Given the description of an element on the screen output the (x, y) to click on. 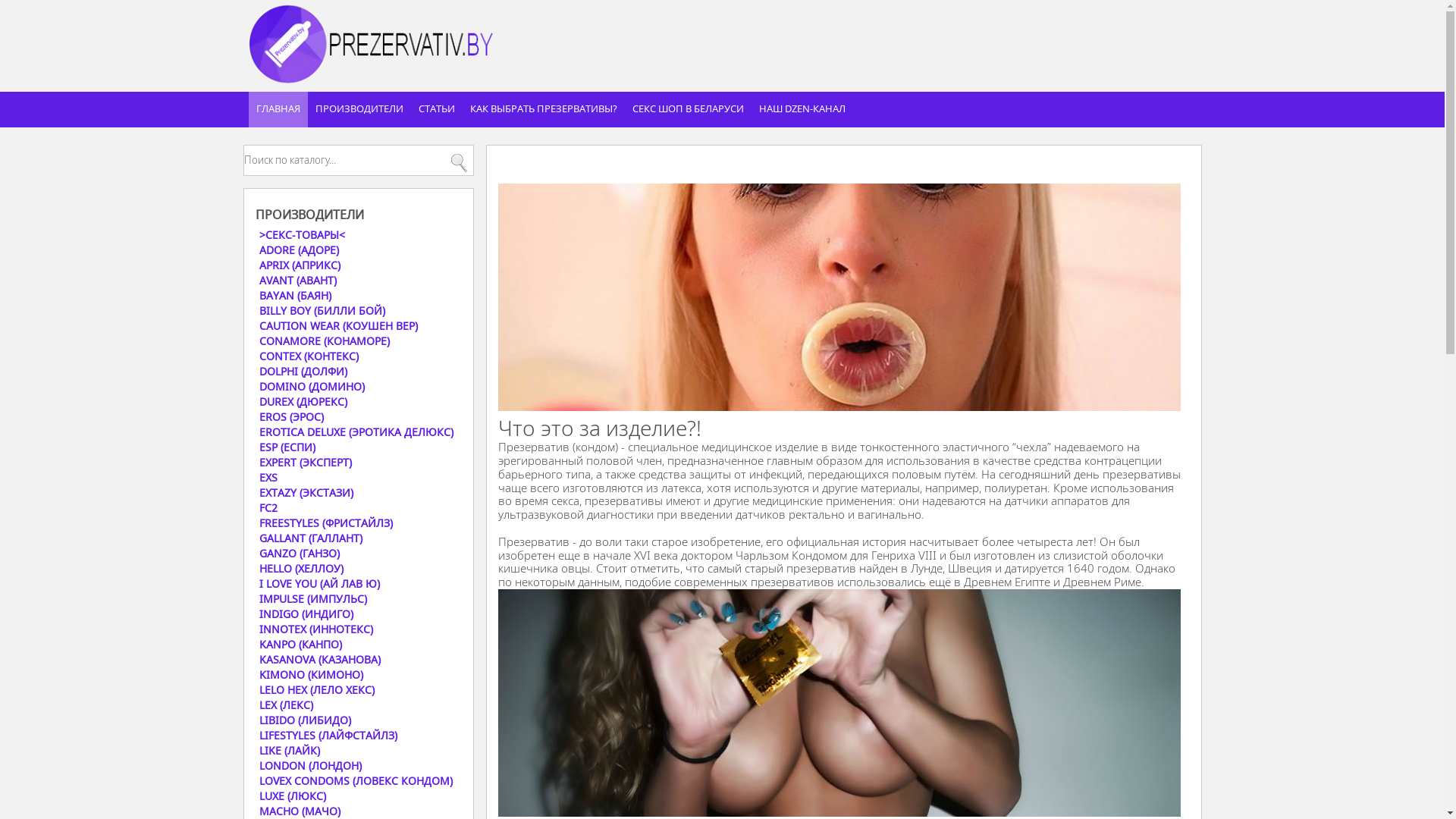
EXS Element type: text (357, 475)
prezervativ.by Element type: hover (375, 43)
FC2 Element type: text (357, 506)
